Given the description of an element on the screen output the (x, y) to click on. 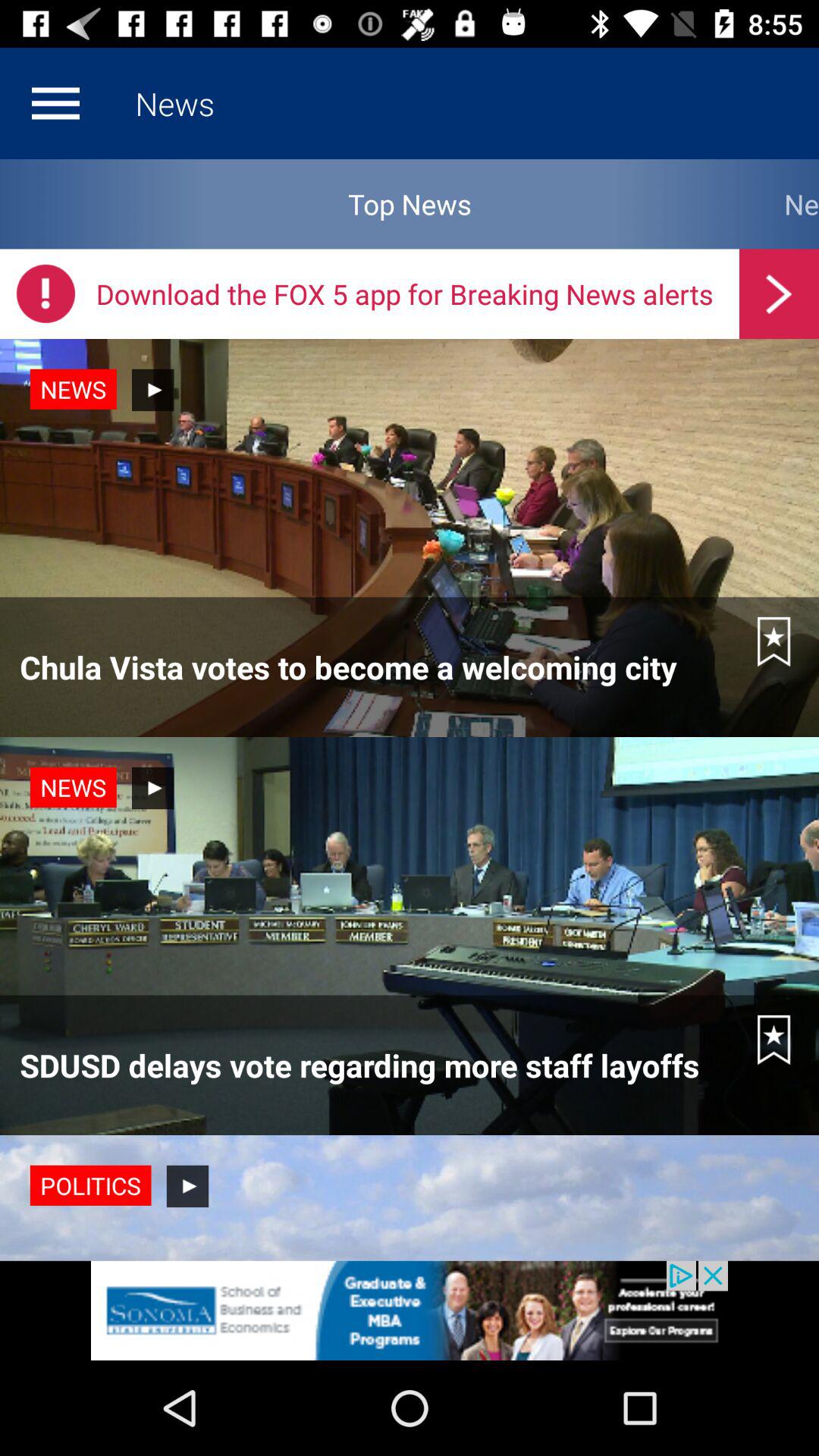
go to top most left corner (56, 103)
select the symbol which is to the immediate right of sdusd delays vote regarding more staff layoffs (774, 1039)
select the icon which is at the top right corner (779, 293)
select the play icon from the second image (152, 788)
